Given the description of an element on the screen output the (x, y) to click on. 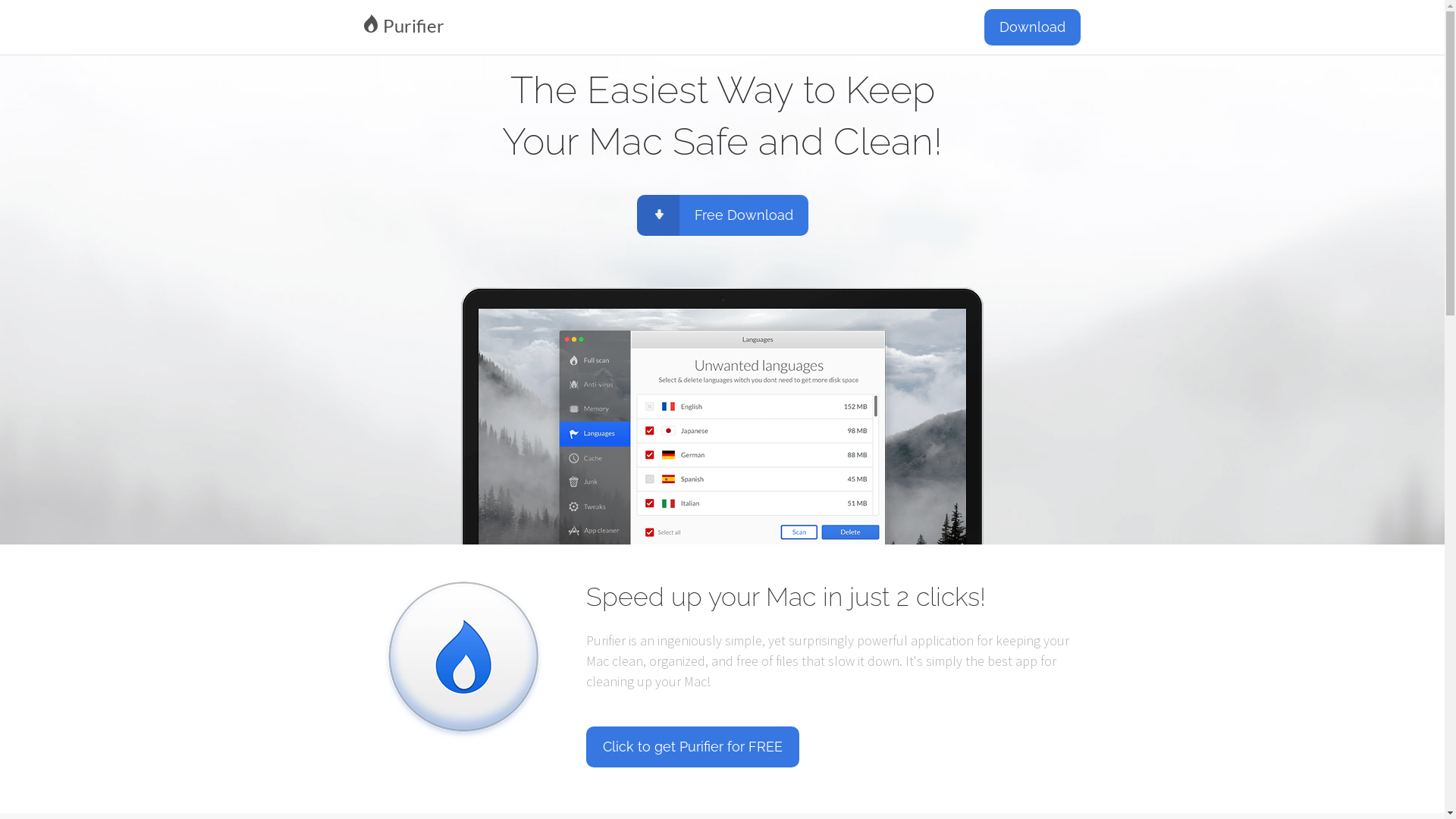
Download Element type: text (1032, 27)
Purifier Element type: text (537, 24)
Click to get Purifier for FREE Element type: text (691, 746)
Free Download Element type: text (722, 215)
